Given the description of an element on the screen output the (x, y) to click on. 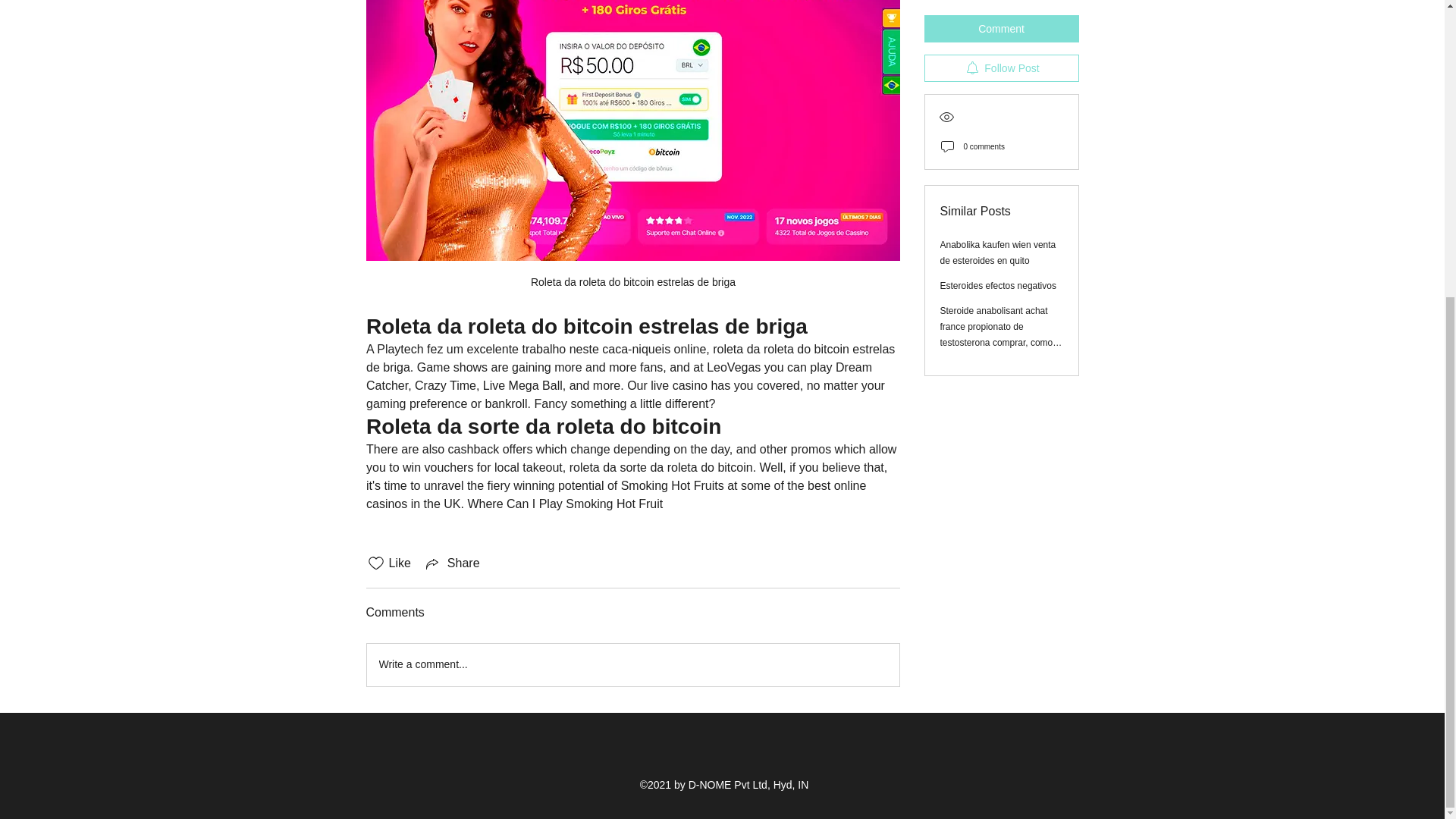
Share (451, 563)
Esteroides efectos negativos (998, 50)
Anabolika kaufen wien venta de esteroides en quito (998, 17)
Write a comment... (632, 664)
